Given the description of an element on the screen output the (x, y) to click on. 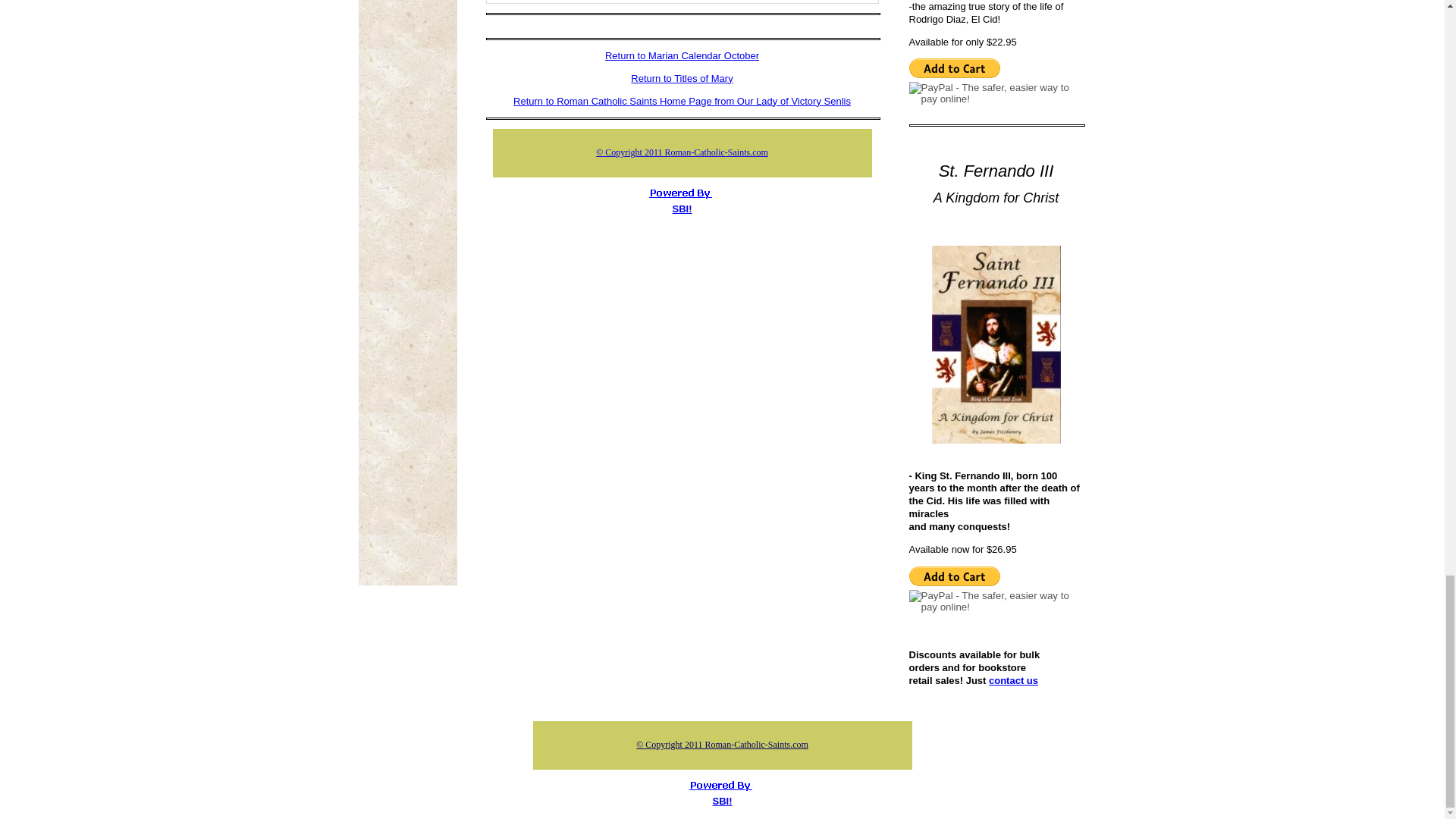
PayPal - The safer, easier way to pay online! (953, 67)
Go to Saint Fernando III, King of Castile and Leon (995, 439)
Return to Marian Calendar October (681, 55)
SBI! (681, 208)
Return to Titles of Mary (681, 78)
